Given the description of an element on the screen output the (x, y) to click on. 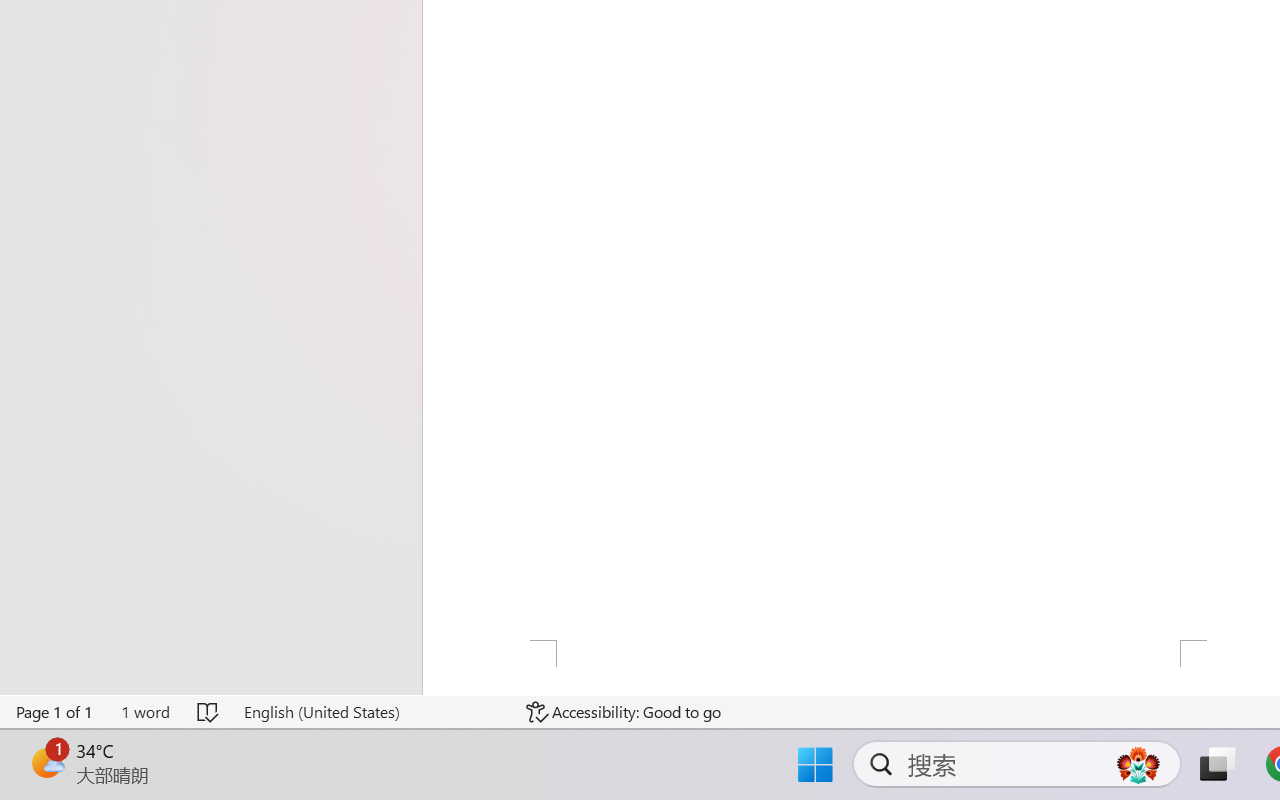
Accessibility Checker Accessibility: Good to go (623, 712)
Page Number Page 1 of 1 (55, 712)
AutomationID: BadgeAnchorLargeTicker (46, 762)
AutomationID: DynamicSearchBoxGleamImage (1138, 764)
Language English (United States) (370, 712)
Spelling and Grammar Check No Errors (208, 712)
Word Count 1 word (145, 712)
